Given the description of an element on the screen output the (x, y) to click on. 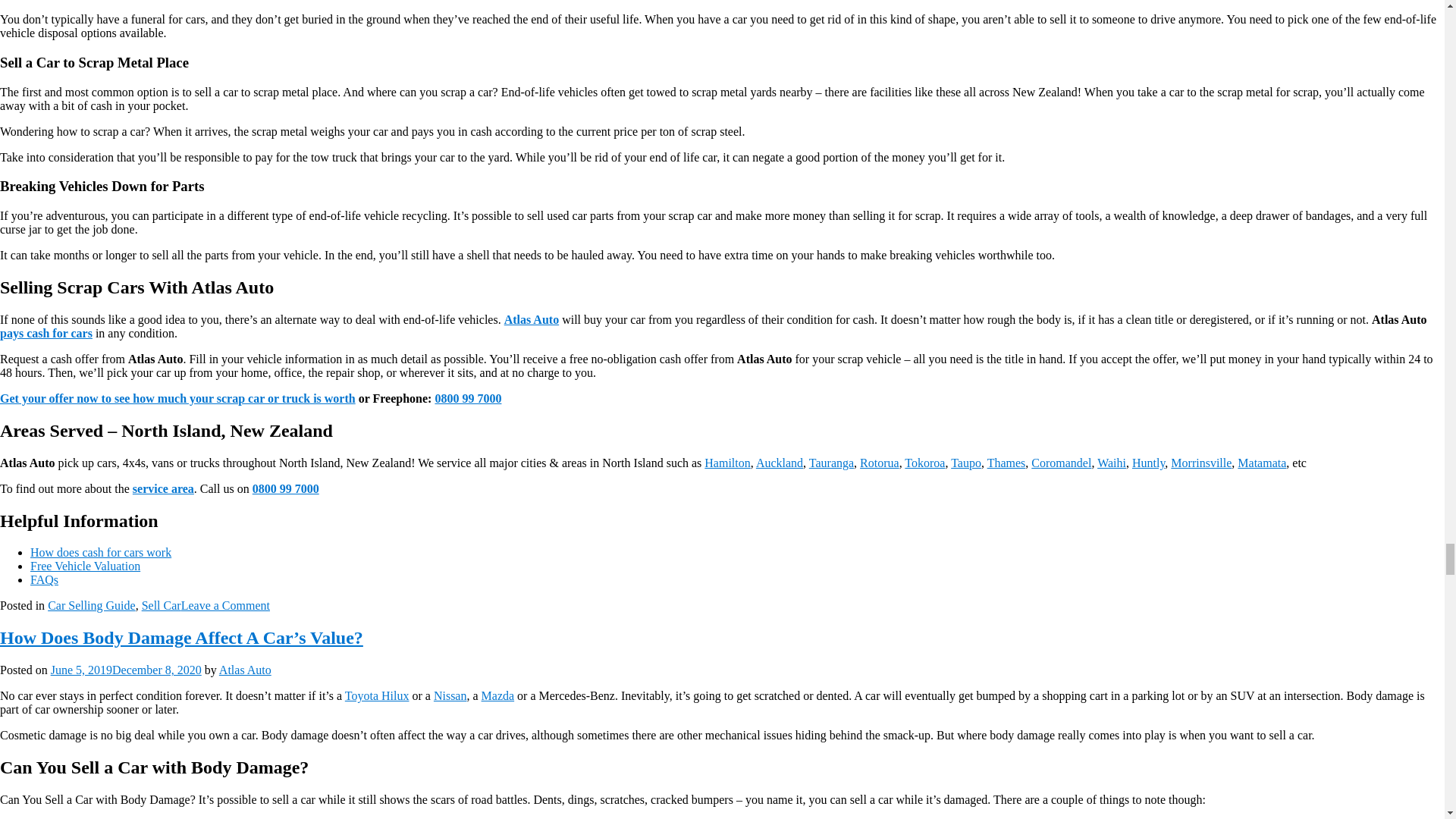
Scrap Cars Hamilton (726, 462)
